Given the description of an element on the screen output the (x, y) to click on. 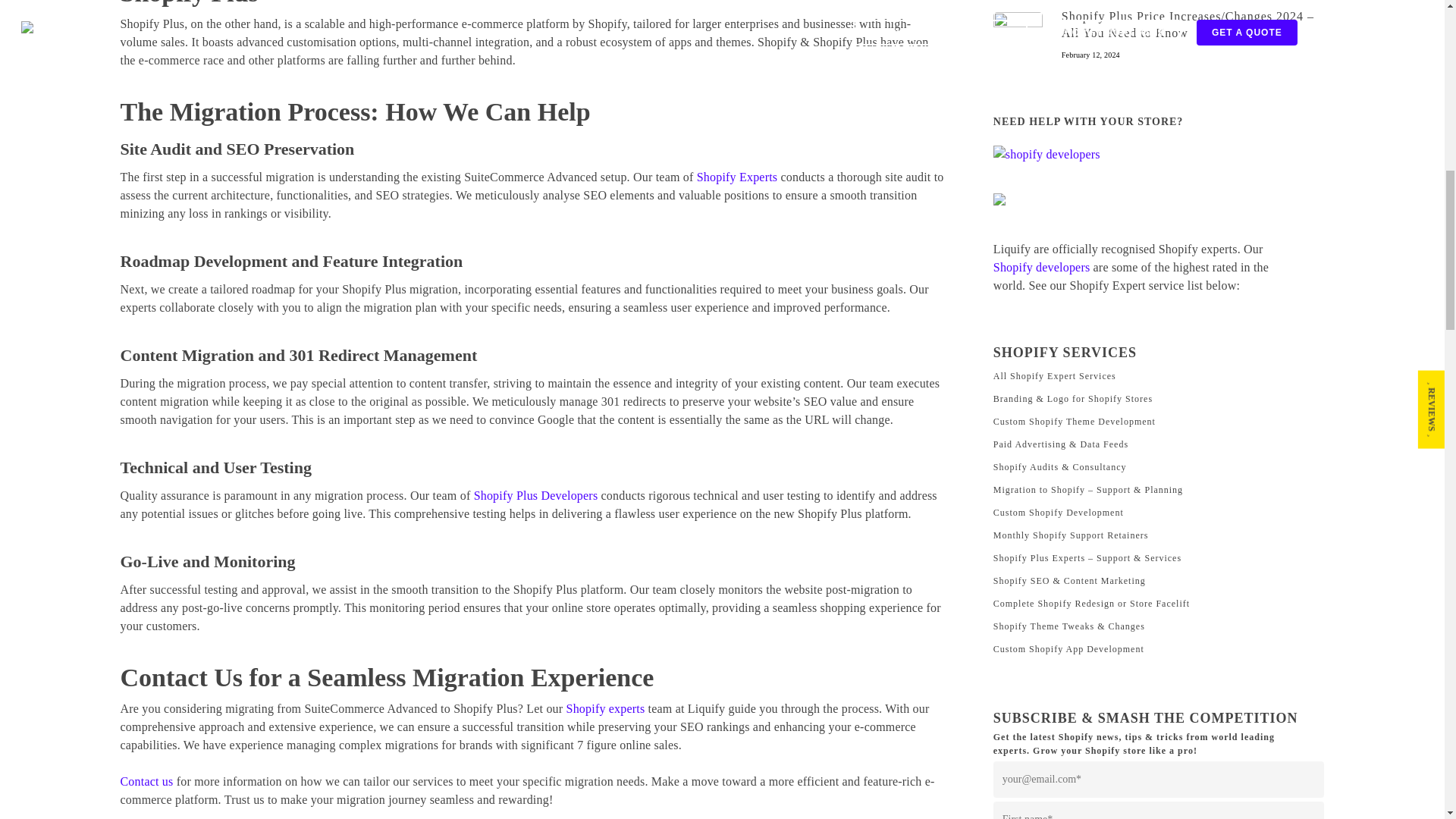
Custom Shopify Development (1158, 512)
Shopify Experts (737, 176)
Shopify experts (605, 707)
Custom Shopify Theme Development (1158, 421)
Shopify Plus Developers (536, 495)
Contact us (146, 780)
Monthly Shopify Support Retainers (1158, 535)
Shopify developers (1041, 267)
All Shopify Expert Services (1158, 375)
